Given the description of an element on the screen output the (x, y) to click on. 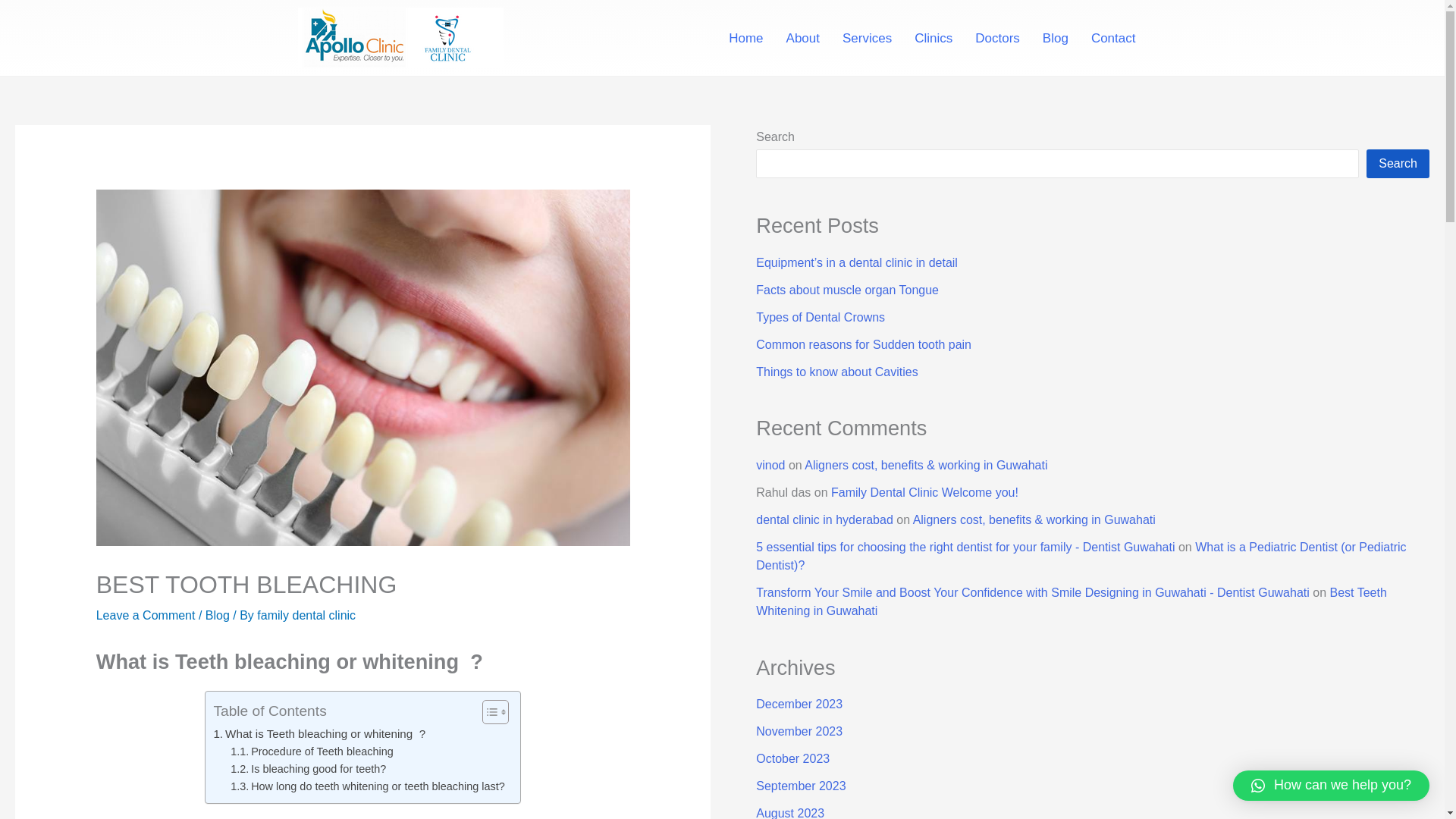
Common reasons for Sudden tooth pain (863, 344)
Procedure of Teeth bleaching (311, 751)
How long do teeth whitening or teeth bleaching last? (367, 786)
Facts about muscle organ Tongue (847, 289)
Search (1398, 163)
Contact (1113, 38)
Clinics (932, 38)
Types of Dental Crowns (820, 317)
View all posts by family dental clinic (306, 615)
